Given the description of an element on the screen output the (x, y) to click on. 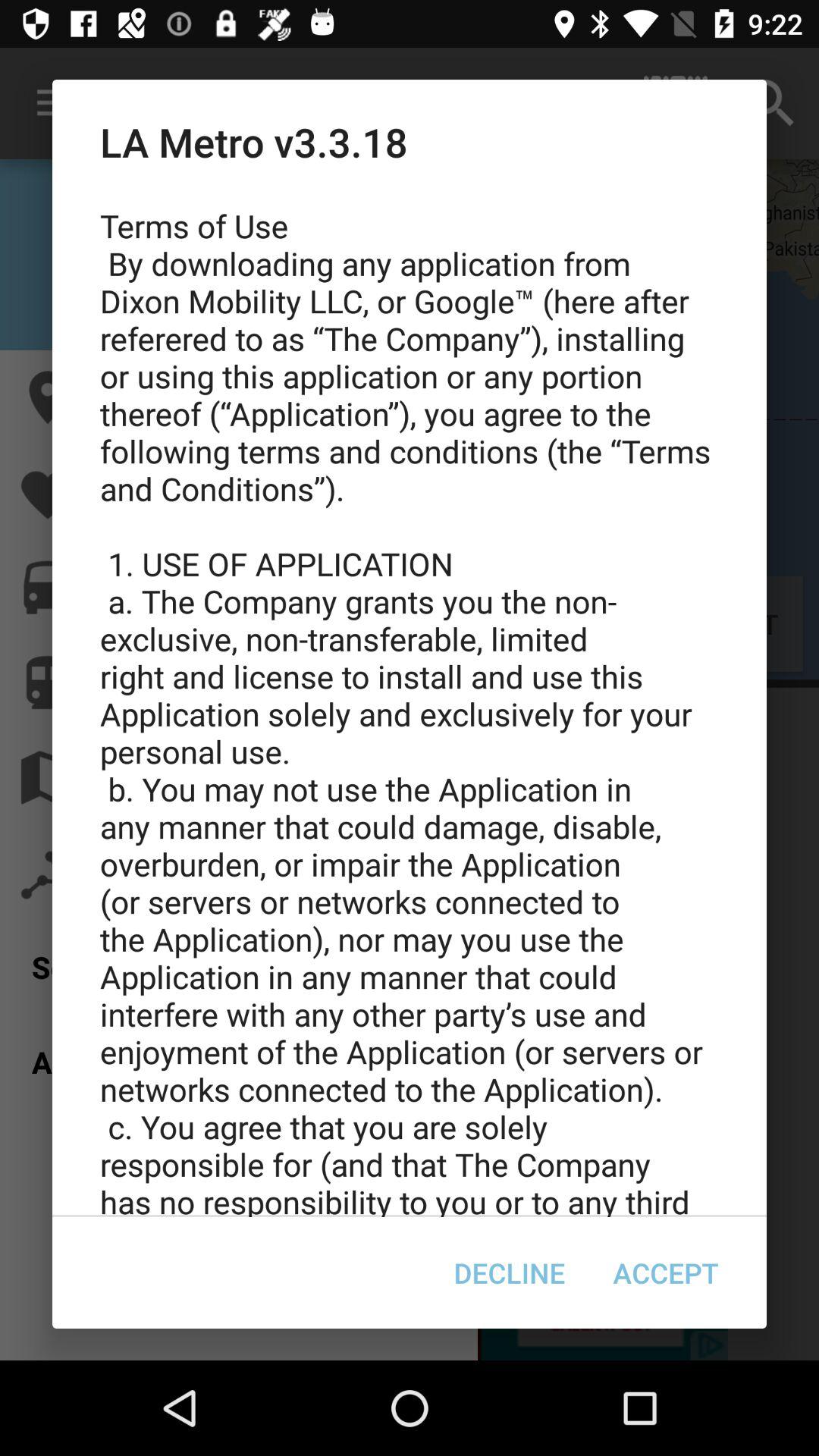
flip to decline icon (509, 1272)
